Given the description of an element on the screen output the (x, y) to click on. 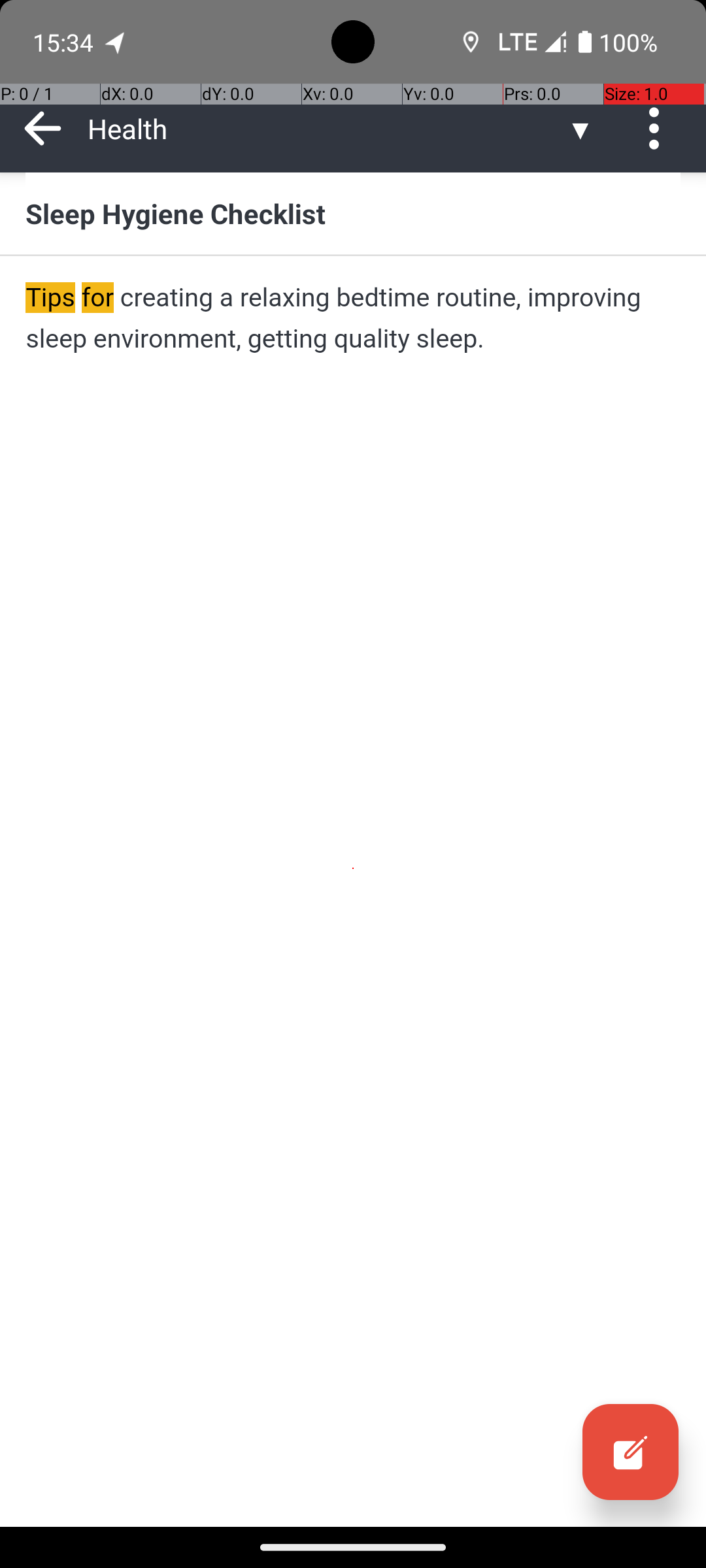
Sleep Hygiene Checklist Element type: android.widget.EditText (352, 213)
Tips for creating a relaxing bedtime routine, improving sleep environment, getting quality sleep. Element type: android.widget.TextView (352, 317)
